Given the description of an element on the screen output the (x, y) to click on. 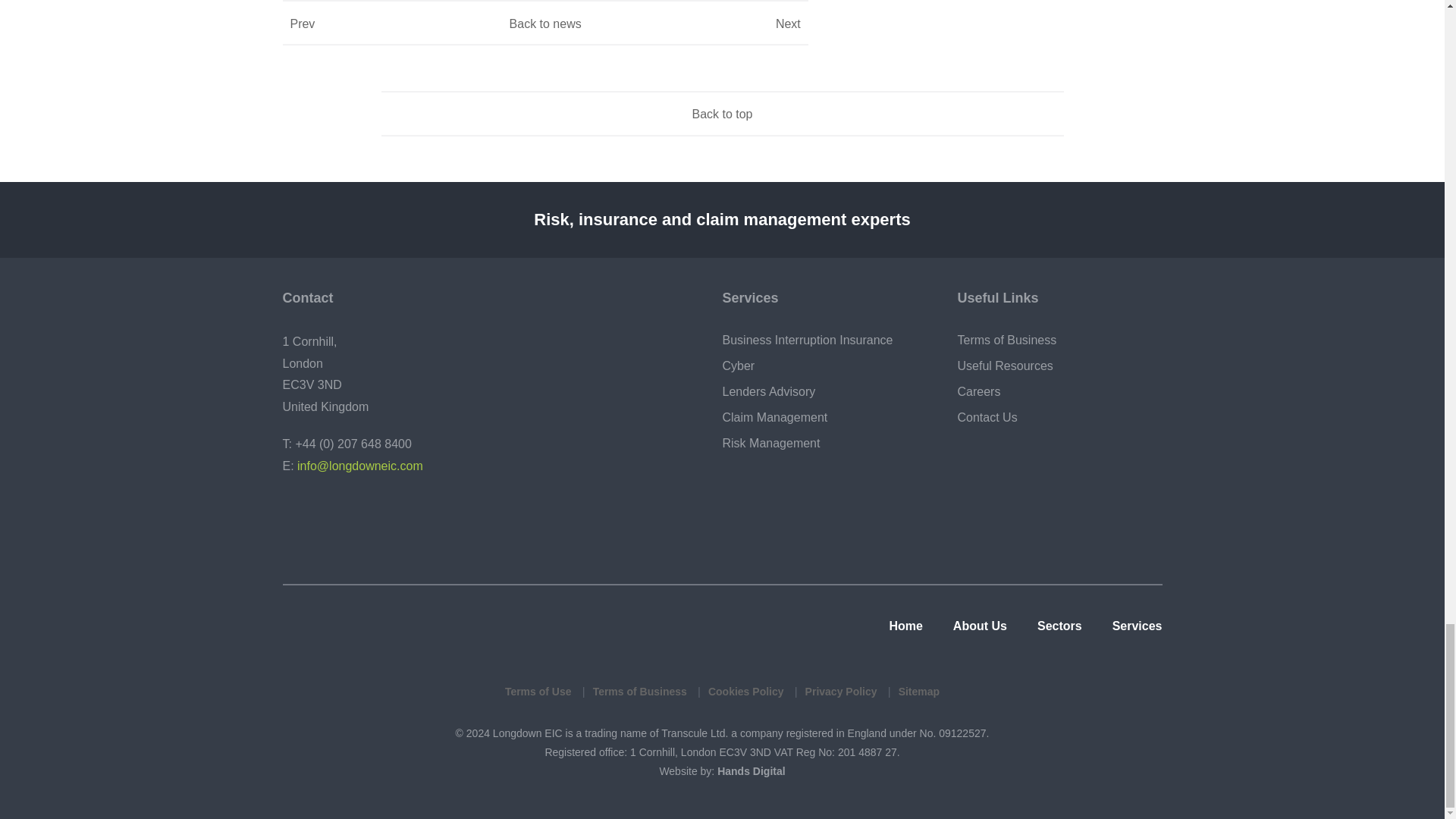
Longdown EIC LinkedIn (349, 526)
Next (720, 22)
Back to top (721, 114)
Prev (369, 22)
Longdown EIC Home Page (388, 629)
Longdown EIC LinkedIn (349, 526)
Back to news (545, 22)
Back to news (545, 22)
Longdown EIC Email Address (301, 526)
